Given the description of an element on the screen output the (x, y) to click on. 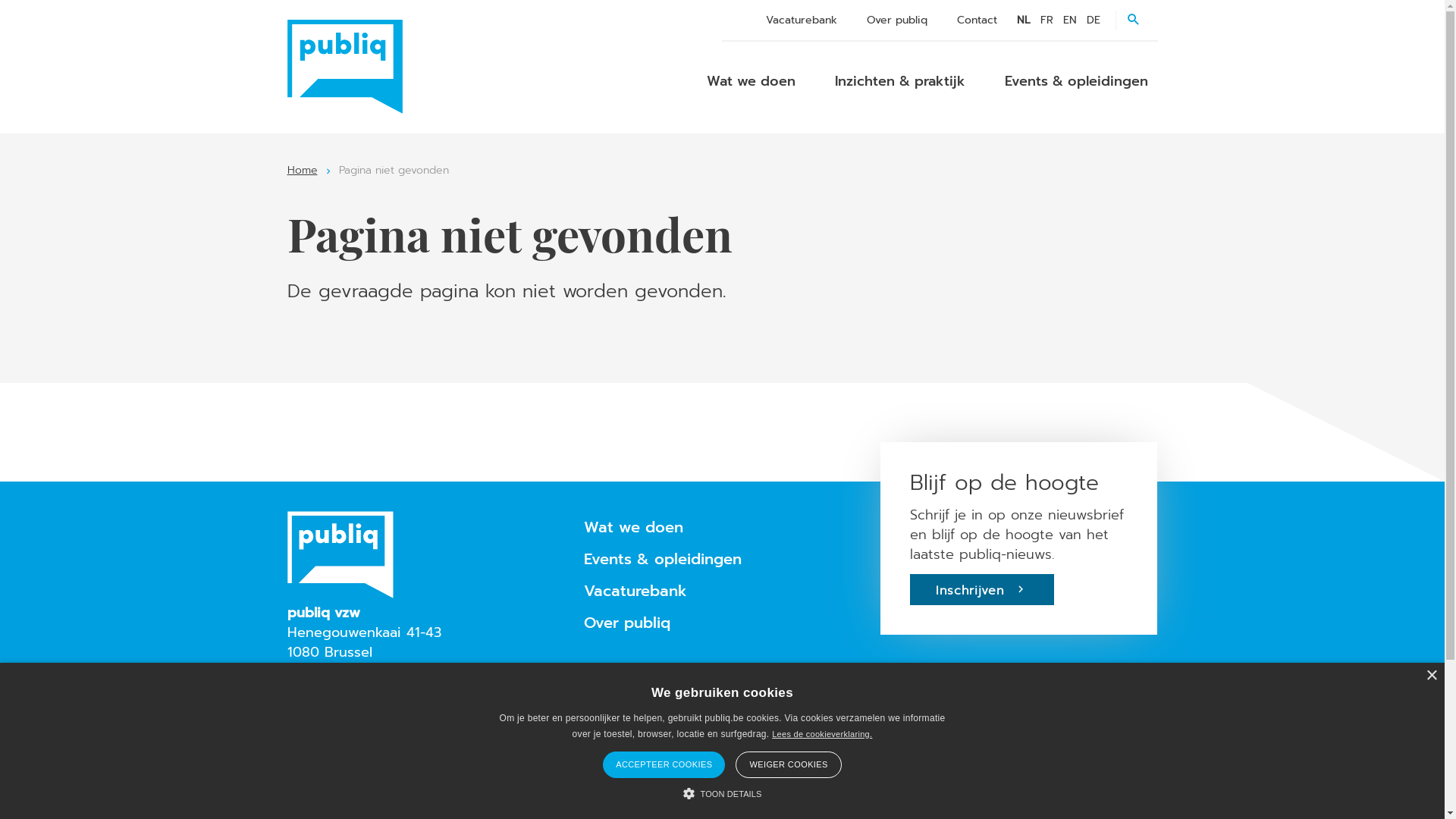
Nieuws van publiq Element type: text (645, 672)
Home Element type: text (301, 170)
Contact Element type: text (609, 702)
NL Element type: text (1023, 20)
Over publiq Element type: text (626, 622)
Pagina niet gevonden Element type: text (393, 170)
FR Element type: text (1046, 20)
Events & opleidingen Element type: text (1075, 80)
Inschrijven Element type: text (982, 589)
DE Element type: text (1093, 20)
EN Element type: text (1069, 20)
info@publiq.be Element type: text (355, 692)
Vacaturebank Element type: text (635, 591)
02 551 18 70 Element type: text (347, 722)
Wat we doen Element type: text (750, 80)
Wat we doen Element type: text (633, 527)
Events & opleidingen Element type: text (662, 559)
Contact Element type: text (977, 20)
Vacaturebank Element type: text (801, 20)
ZOEKEN Element type: text (1135, 20)
Inzichten & praktijk Element type: text (900, 80)
Lees de cookieverklaring. Element type: text (821, 733)
Over publiq Element type: text (896, 20)
